Given the description of an element on the screen output the (x, y) to click on. 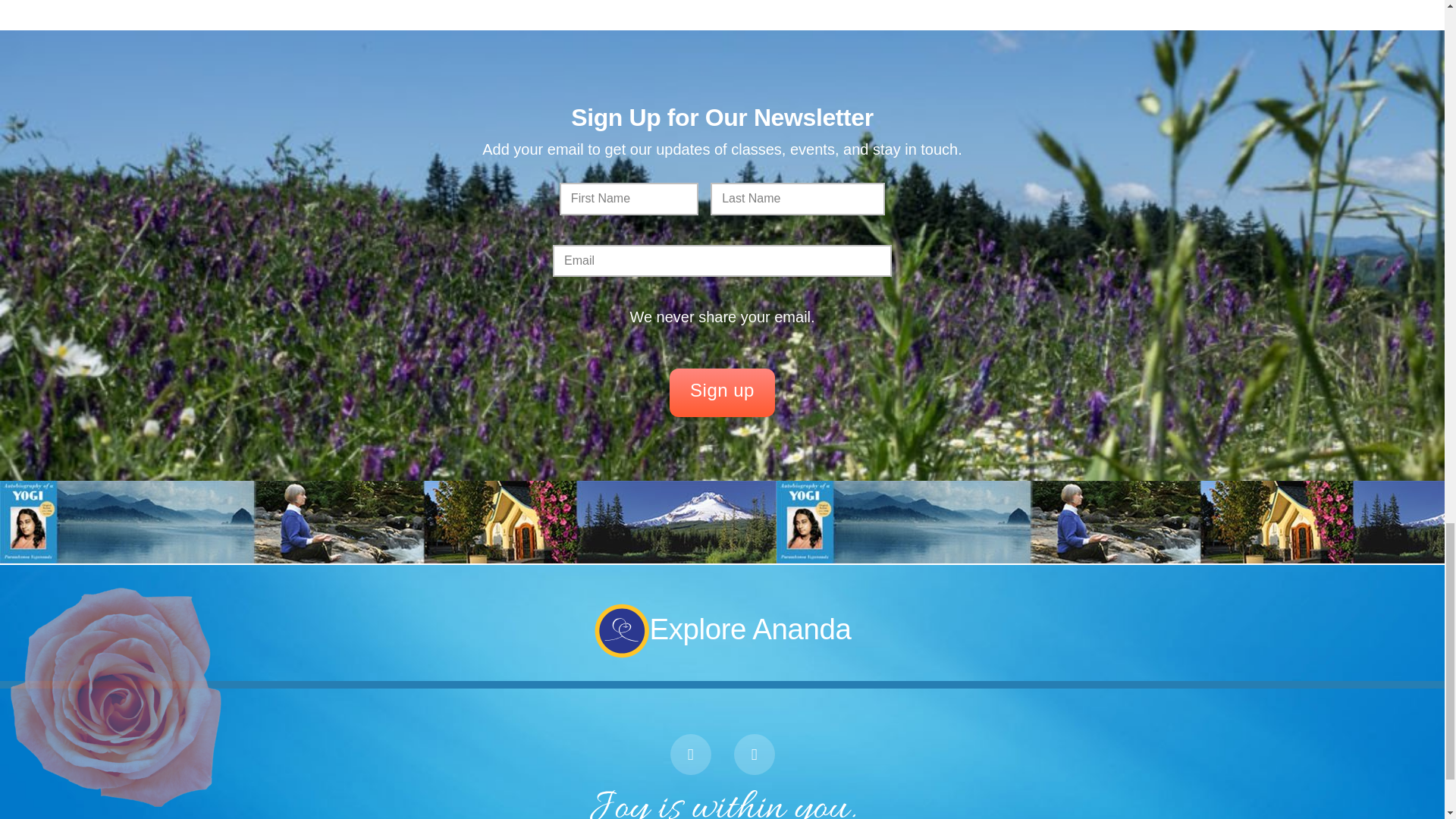
YouTube (753, 753)
Sign up (721, 392)
Facebook (690, 753)
